Given the description of an element on the screen output the (x, y) to click on. 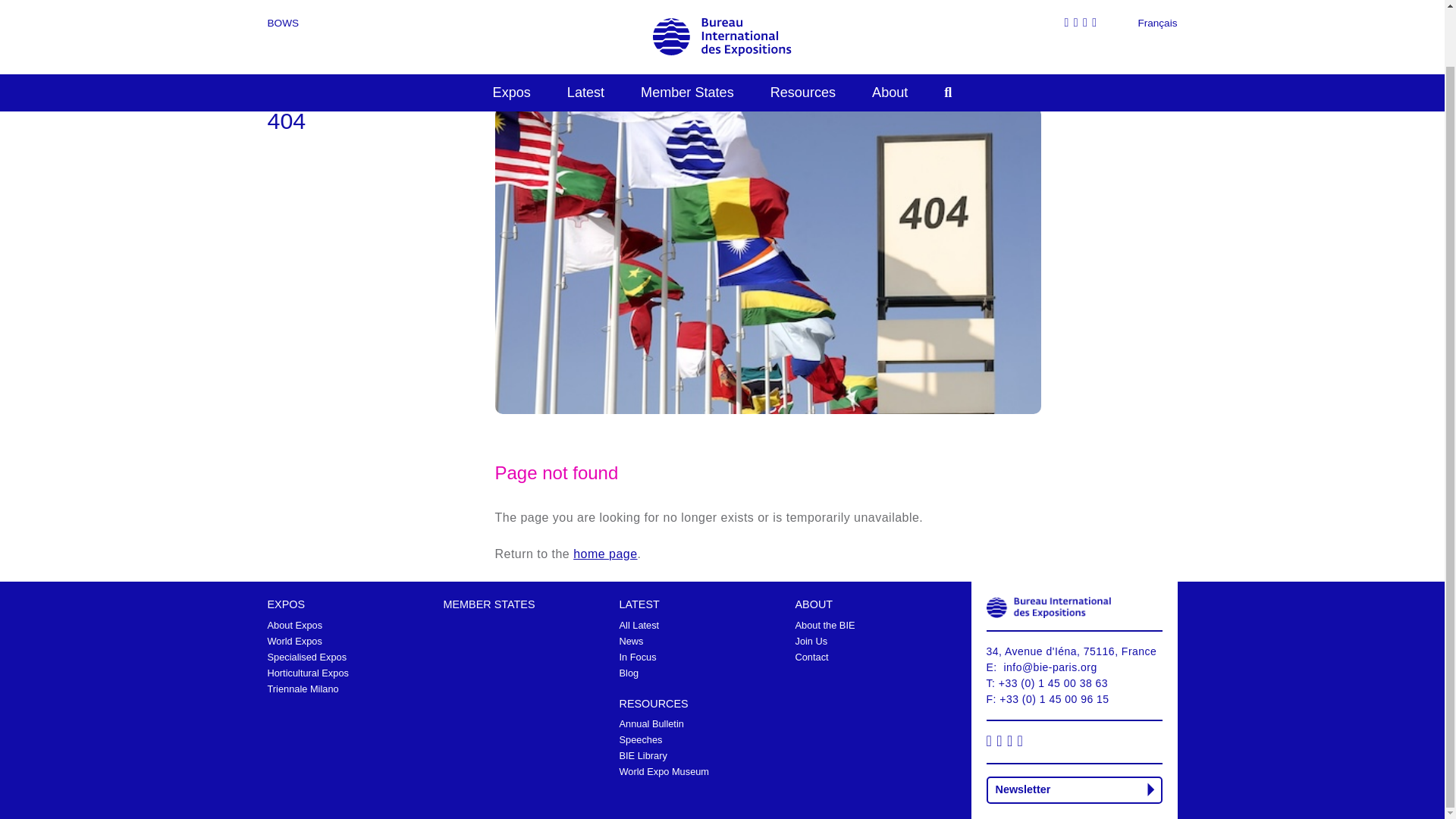
Follow us on Twitter (1022, 742)
Follow us on LinkedIn (1012, 742)
Follow us on Instagram (1001, 742)
Follow us on Facebook (990, 742)
